Given the description of an element on the screen output the (x, y) to click on. 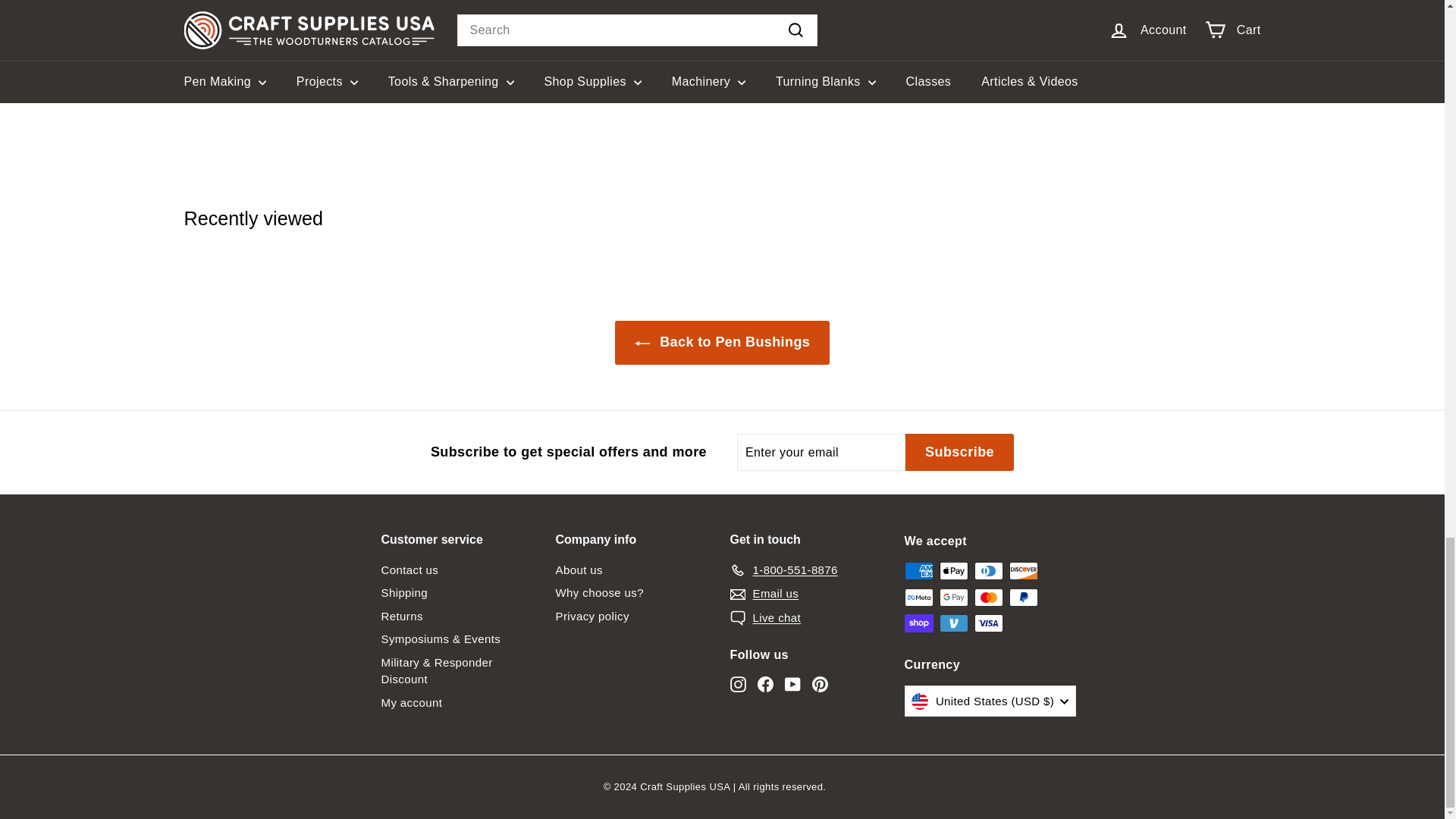
Craft Supplies USA on Pinterest (818, 683)
Craft Supplies USA on YouTube (791, 683)
Craft Supplies USA on Instagram (737, 683)
Craft Supplies USA on Facebook (765, 683)
icon-left-arrow (641, 343)
instagram (737, 684)
